Given the description of an element on the screen output the (x, y) to click on. 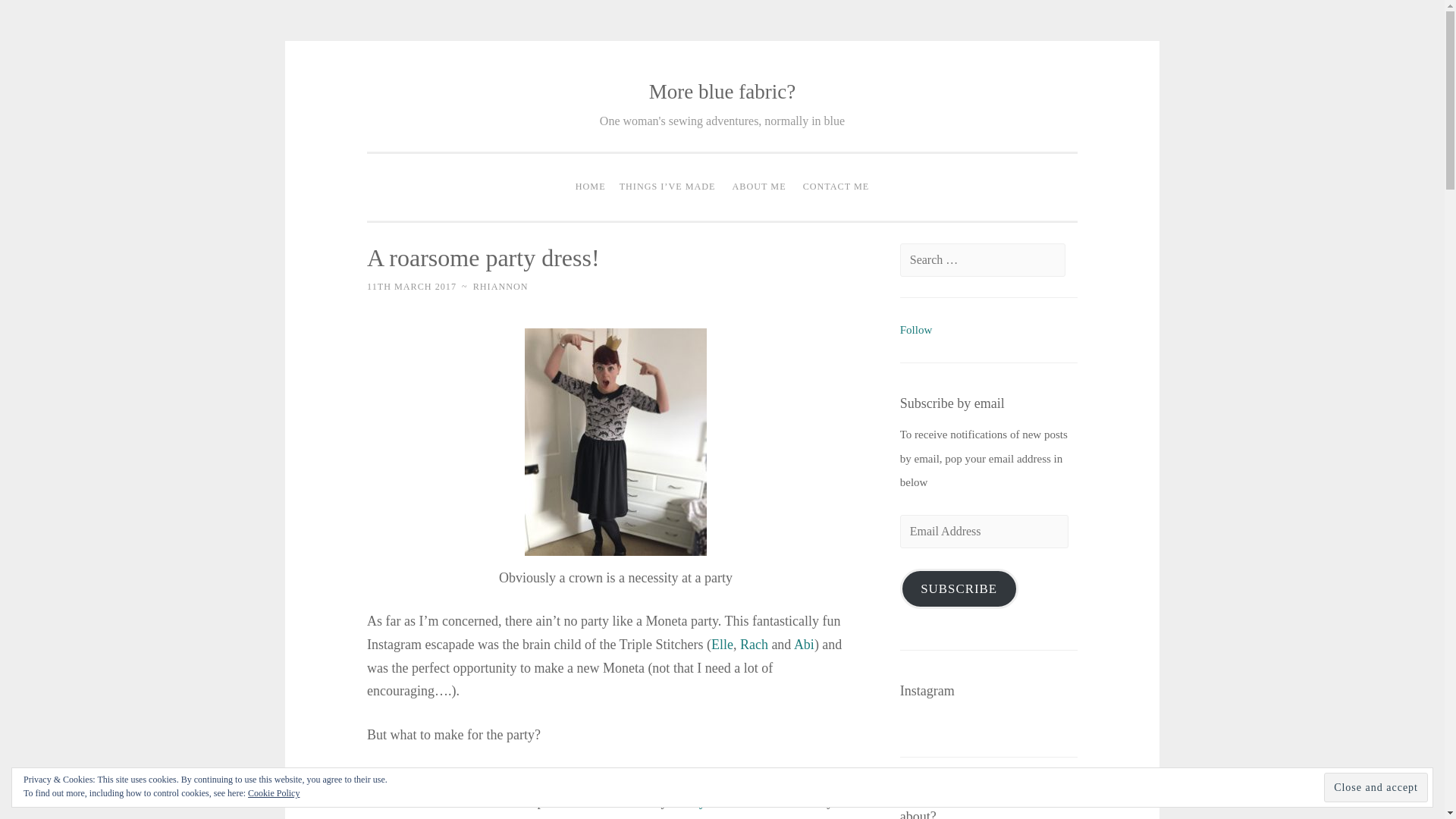
HOME (590, 186)
Rebecca (542, 818)
More blue fabric? (721, 91)
Abi (803, 644)
Close and accept (1375, 787)
Crafty Sew and So (722, 801)
RHIANNON (500, 286)
11TH MARCH 2017 (411, 286)
Rach (753, 644)
Search (39, 16)
Elle (722, 644)
ABOUT ME (759, 186)
CONTACT ME (836, 186)
SUBSCRIBE (958, 588)
